Given the description of an element on the screen output the (x, y) to click on. 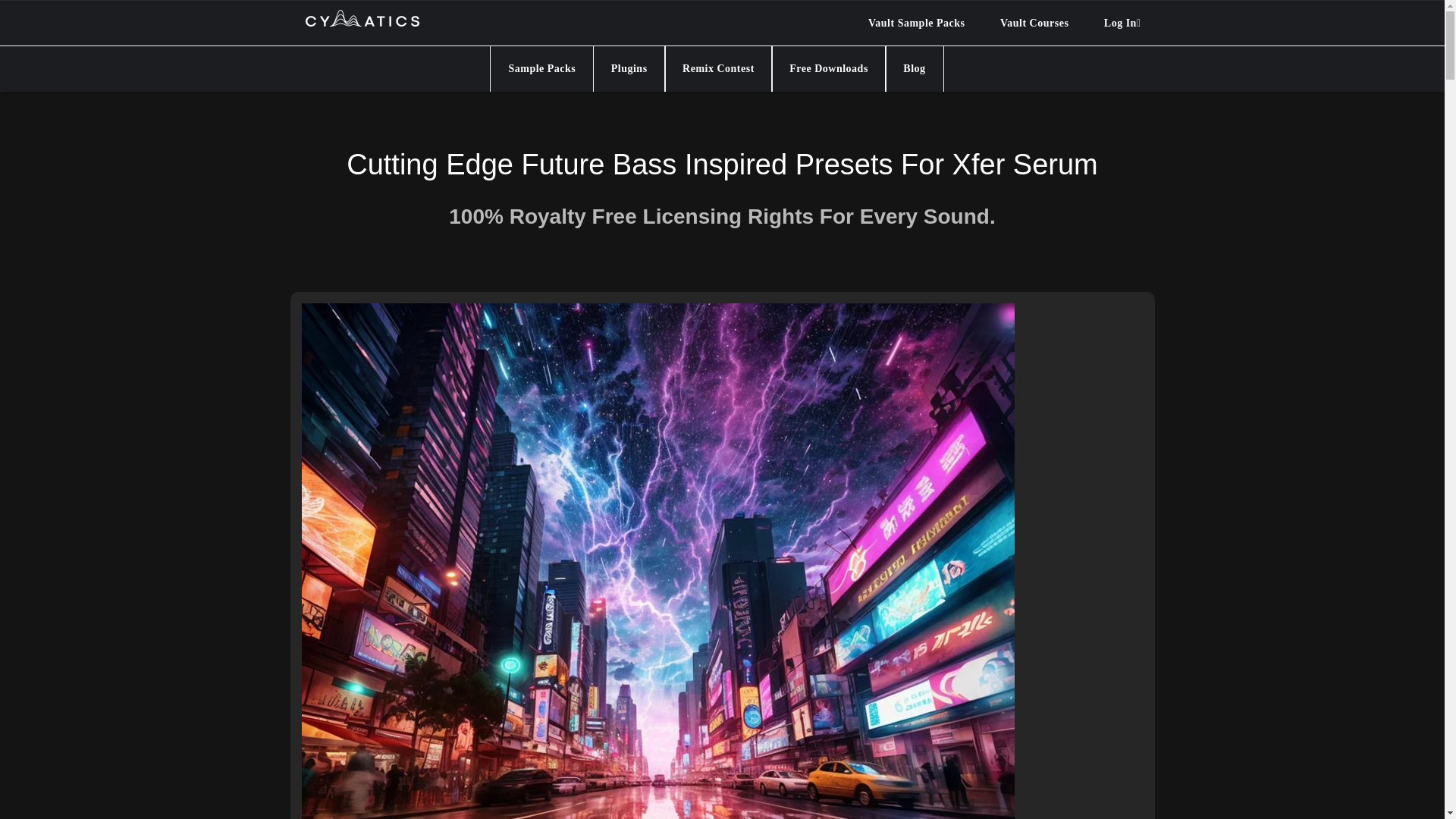
Plugins (628, 67)
Sample Packs (542, 67)
Remix Contest (718, 67)
Log In (1122, 22)
Vault Sample Packs (916, 22)
Free Downloads (828, 67)
Vault Courses (1034, 22)
Blog (914, 67)
